Given the description of an element on the screen output the (x, y) to click on. 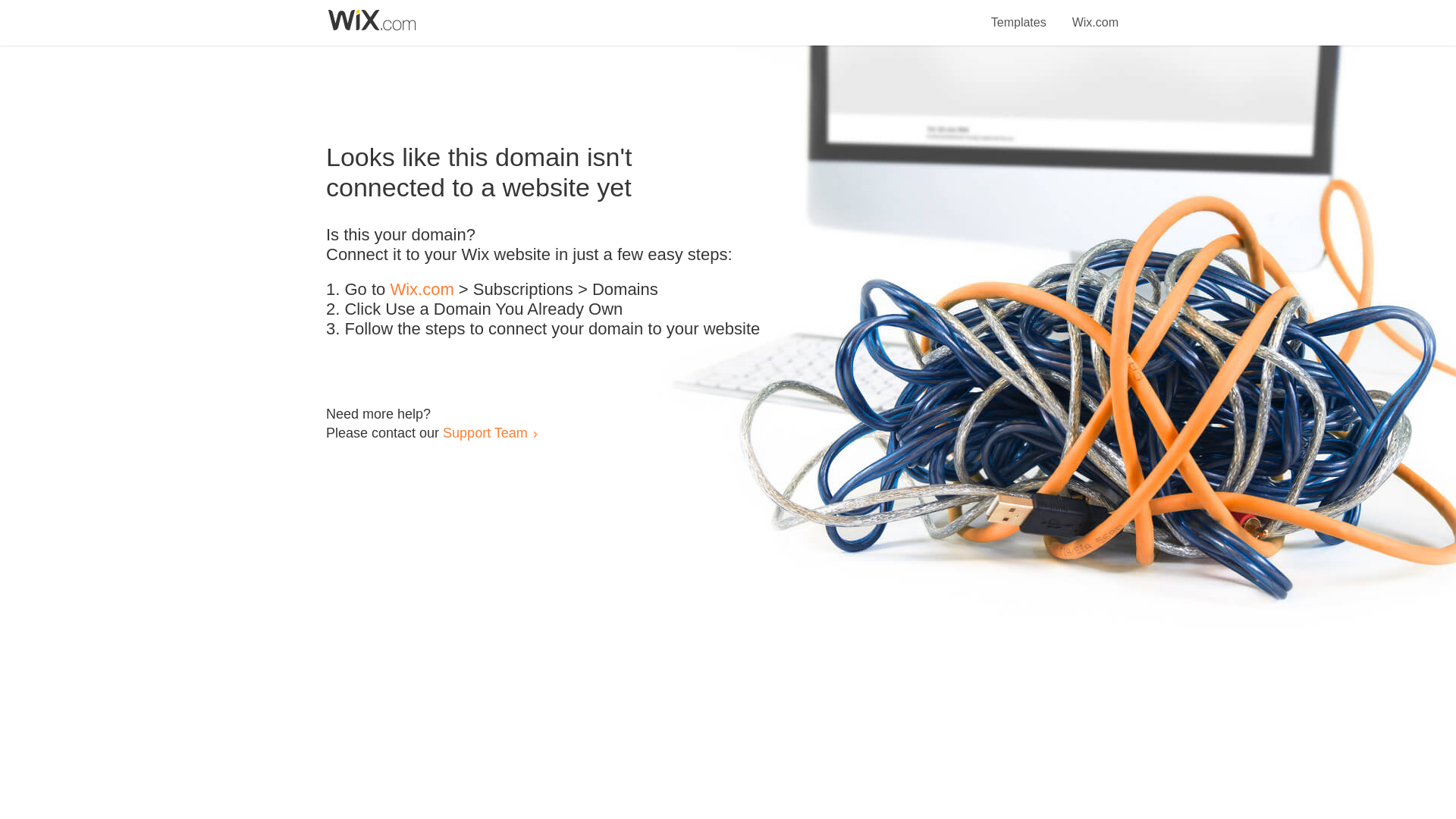
Wix.com (1095, 14)
Support Team (484, 432)
Wix.com (421, 289)
Templates (1018, 14)
